Given the description of an element on the screen output the (x, y) to click on. 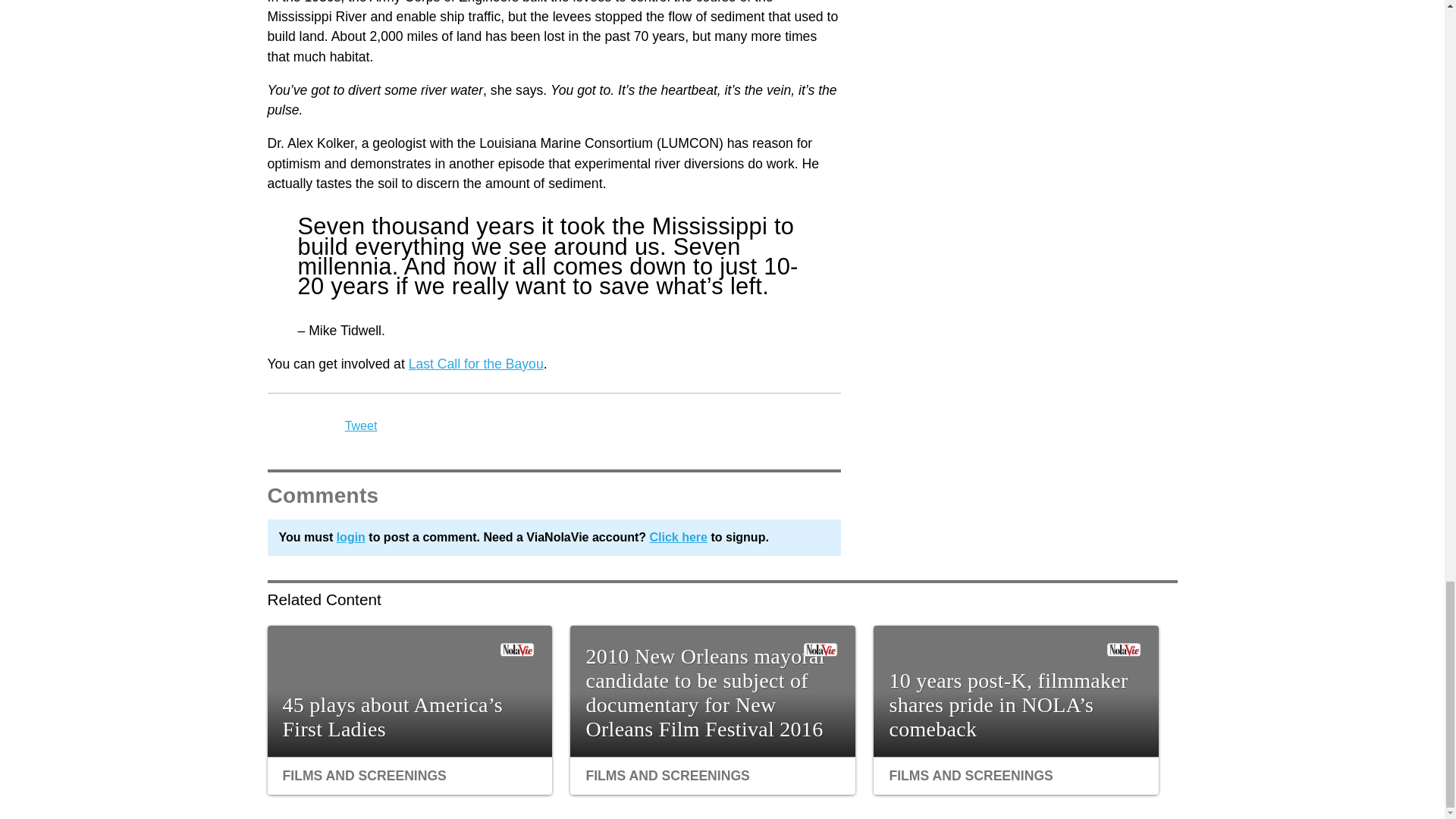
Last Call for the Bayou (476, 363)
Click here (677, 536)
FILMS AND SCREENINGS (363, 775)
Tweet (361, 425)
FILMS AND SCREENINGS (667, 775)
FILMS AND SCREENINGS (970, 775)
login (350, 536)
